Given the description of an element on the screen output the (x, y) to click on. 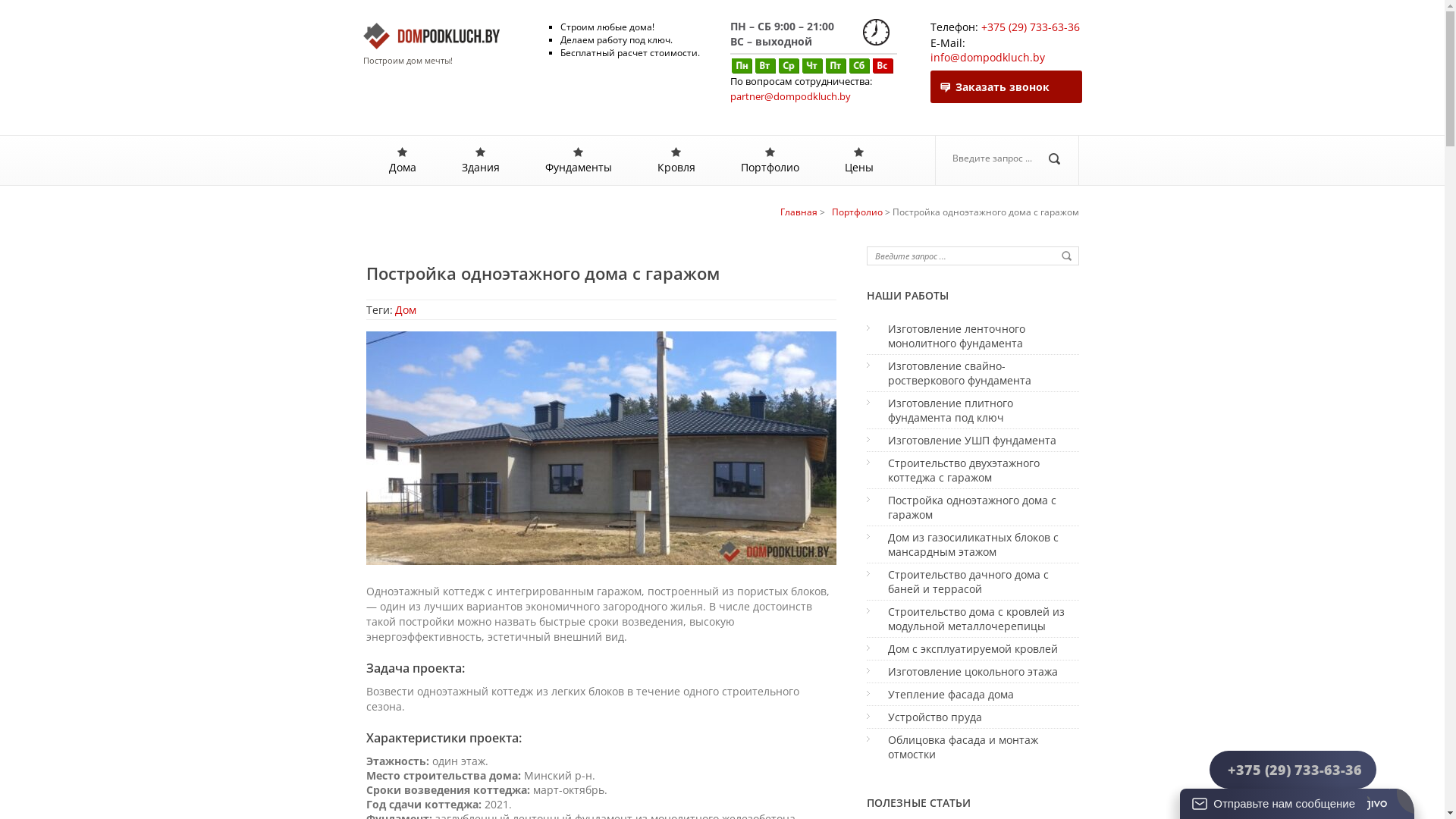
E-Mail: info@dompodkluch.by Element type: text (1005, 49)
+375 (29) 733-63-36 Element type: text (1292, 769)
partner@dompodkluch.by Element type: text (789, 96)
